Given the description of an element on the screen output the (x, y) to click on. 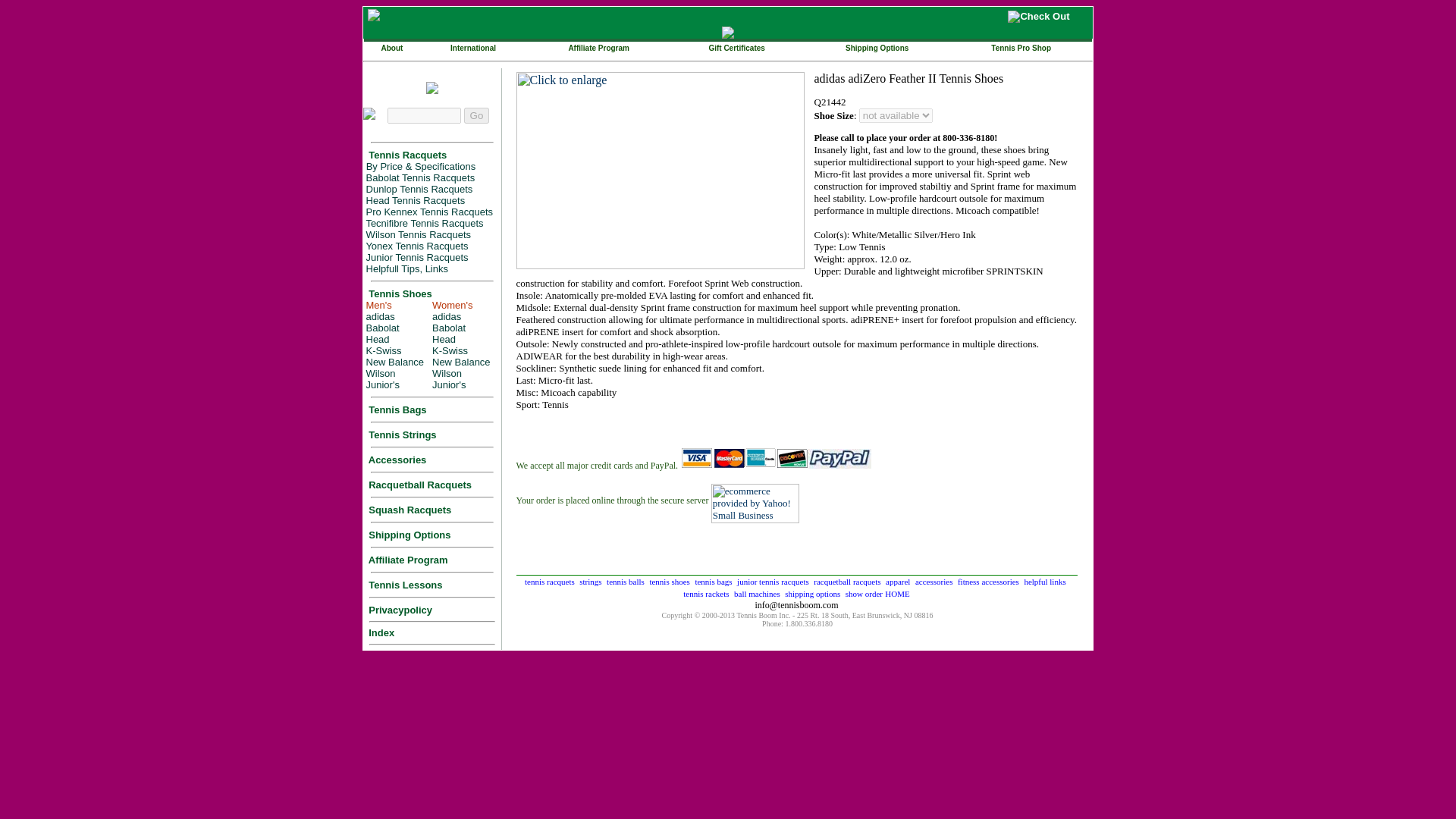
 Junior Tennis Racquets (415, 256)
Shipping Options (876, 46)
About (391, 46)
Head (376, 338)
International (472, 46)
New Balance (394, 360)
Babolat (381, 327)
adidas (379, 315)
Tennis Pro Shop (1021, 46)
Go (476, 115)
